Given the description of an element on the screen output the (x, y) to click on. 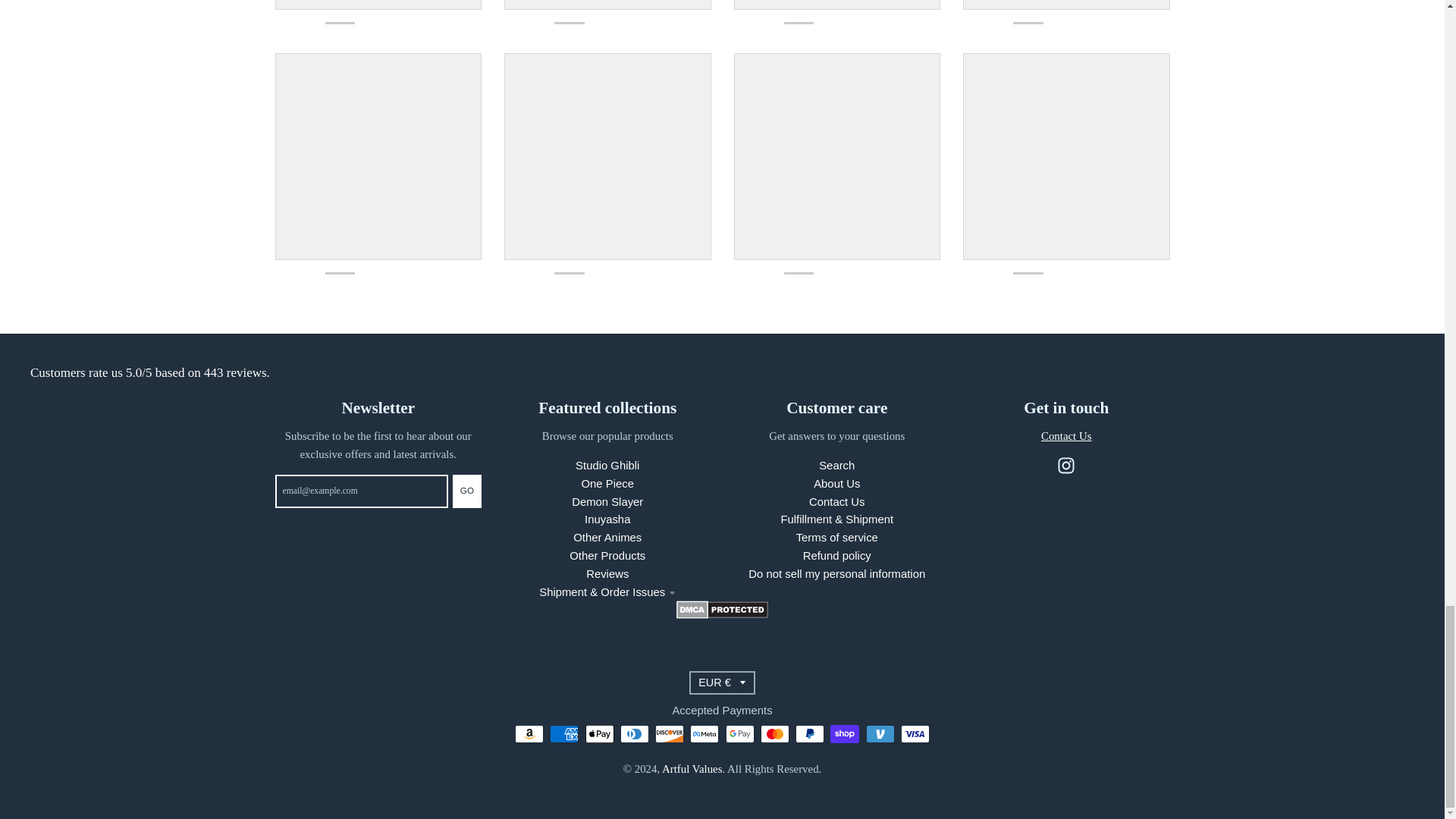
Instagram - Artful Values (1066, 465)
DMCA.com Protection Status (722, 614)
